Given the description of an element on the screen output the (x, y) to click on. 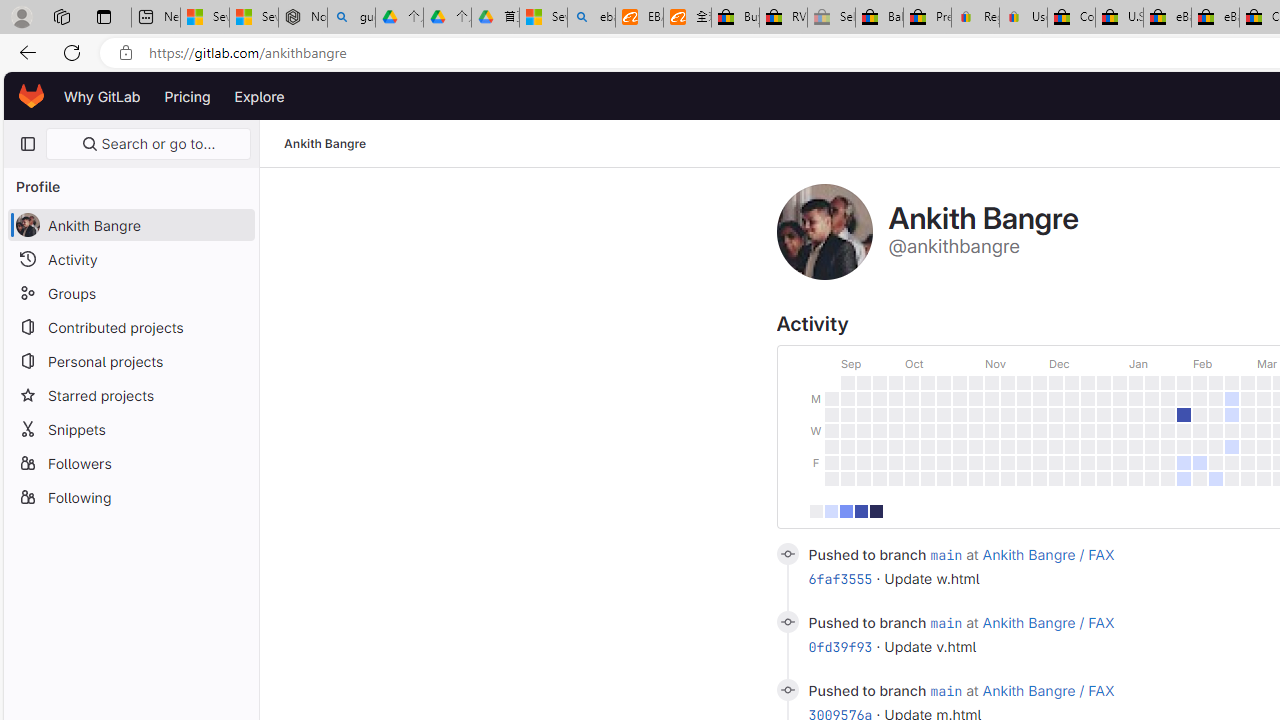
20-29 contributions (860, 510)
Contributed projects (130, 326)
